Given the description of an element on the screen output the (x, y) to click on. 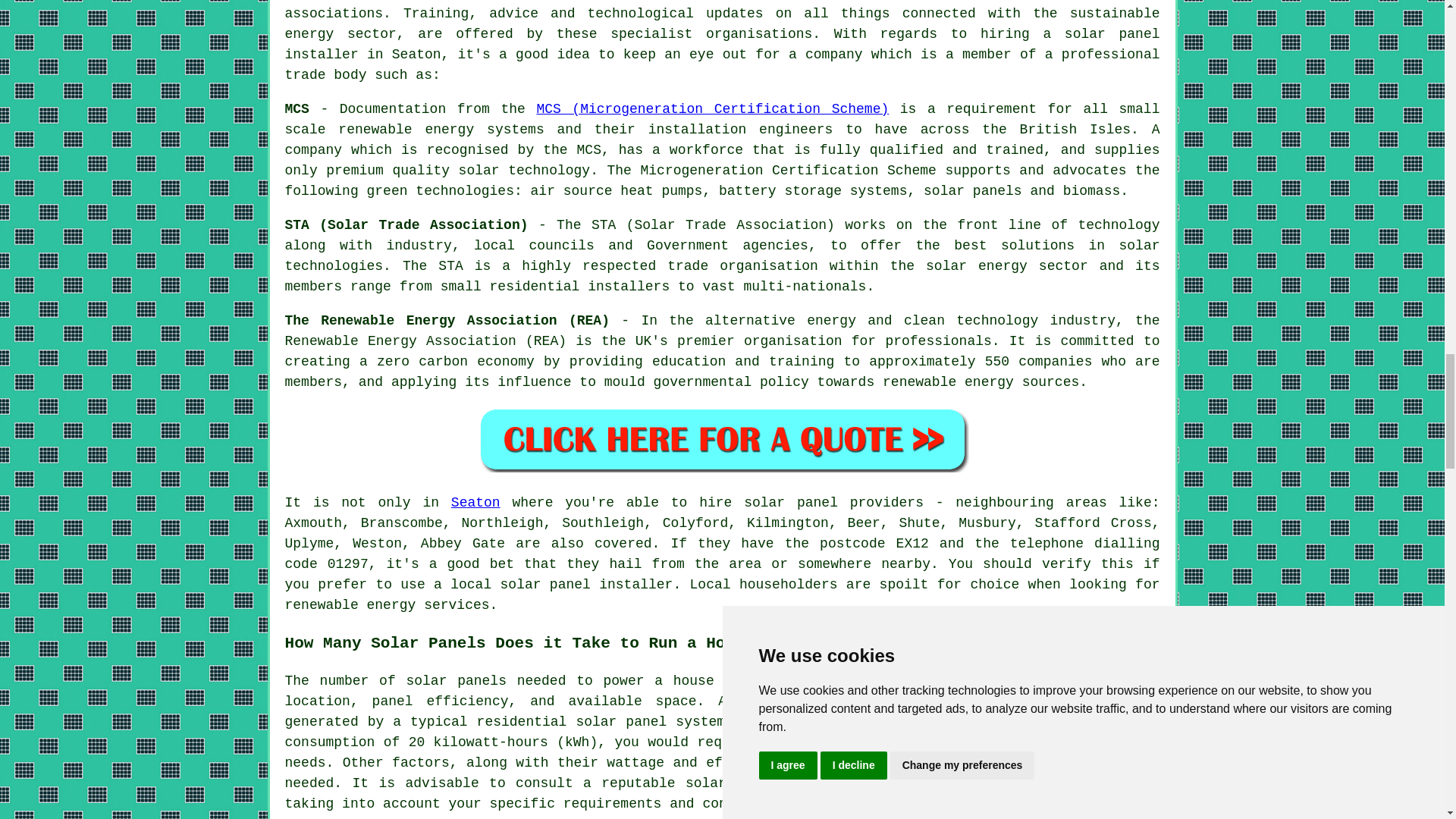
solar installer (747, 783)
number of solar panels (413, 680)
Solar Panel Installation Quotes in Seaton Devon (722, 439)
